Given the description of an element on the screen output the (x, y) to click on. 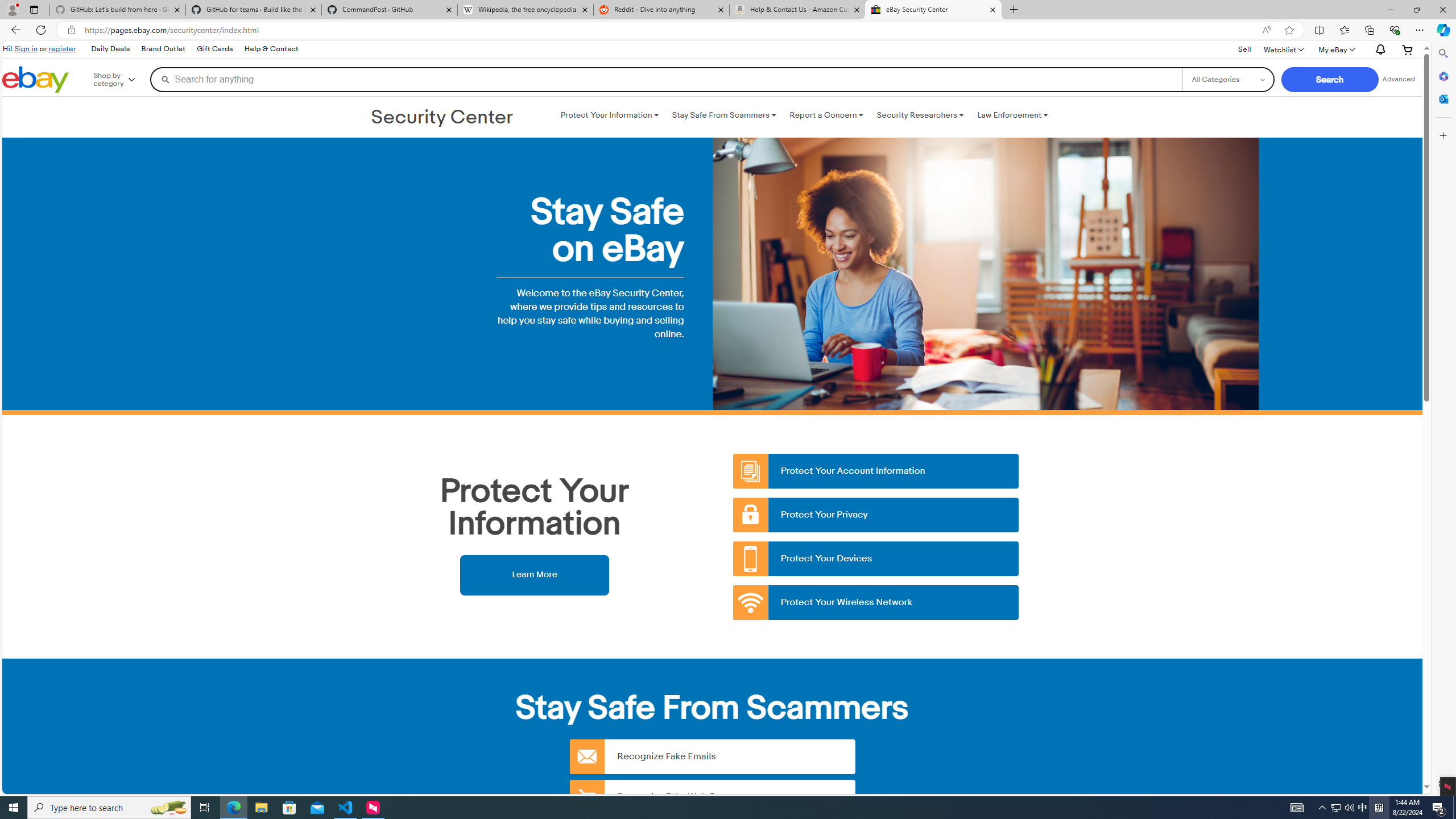
Search for anything (665, 78)
Gift Cards (214, 49)
Help & Contact (270, 49)
Daily Deals (109, 49)
Watchlist (1282, 49)
Brand Outlet (163, 49)
Shop by category (122, 79)
Advanced Search (1398, 78)
Law Enforcement  (1012, 115)
Stay Safe From Scammers  (723, 115)
Law Enforcement  (1012, 115)
AutomationID: gh-eb-Alerts (1378, 49)
